Given the description of an element on the screen output the (x, y) to click on. 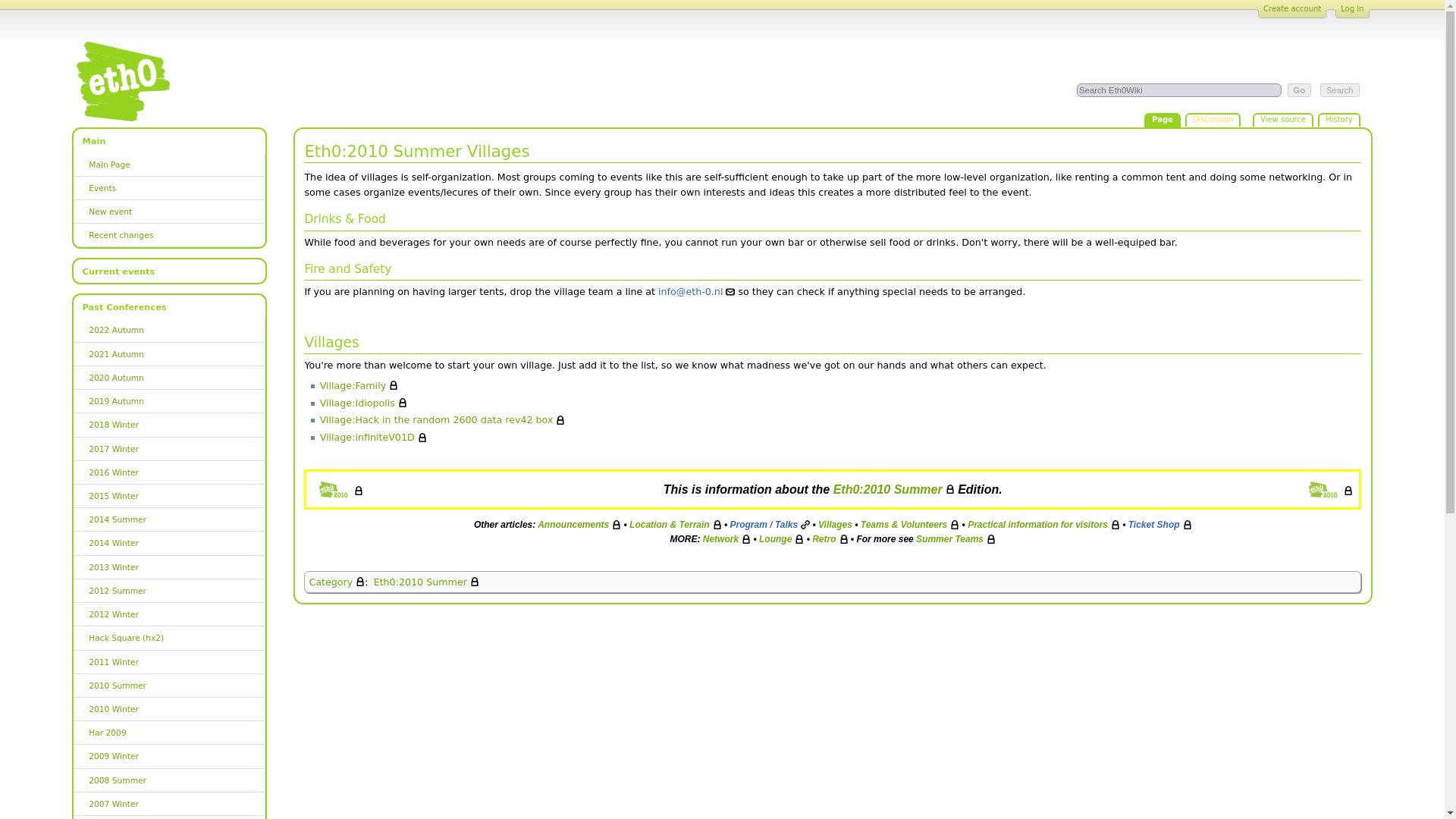
2009 Winter (169, 756)
Discussion (1212, 120)
2019 Autumn (169, 401)
2017 Winter (169, 449)
2007 Winter (169, 803)
2011 Winter (169, 662)
2018 Winter (169, 424)
2021 Autumn (169, 354)
Recent changes (169, 235)
2013 Winter (169, 567)
2015 Winter (169, 495)
2022 Autumn (169, 330)
2012 Winter (169, 614)
Har 2009 (169, 732)
2008 Summer (169, 780)
